Given the description of an element on the screen output the (x, y) to click on. 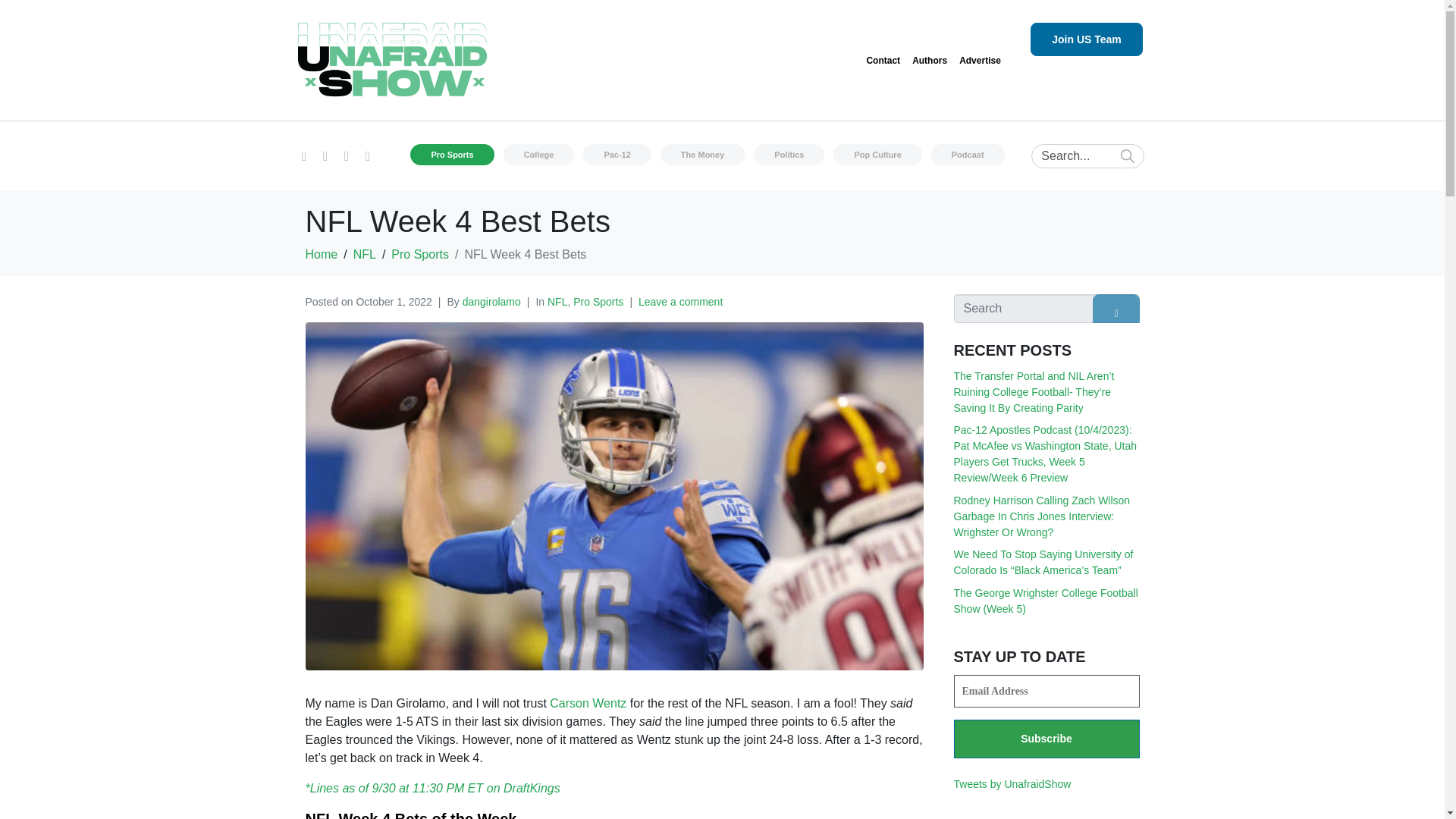
Join US Team (1086, 39)
Contact (882, 60)
Pac-12 (616, 154)
The Money (702, 154)
Authors (929, 60)
dangirolamo (492, 301)
Podcast (967, 154)
NFL (557, 301)
NFL (364, 254)
Subscribe (1046, 738)
